Given the description of an element on the screen output the (x, y) to click on. 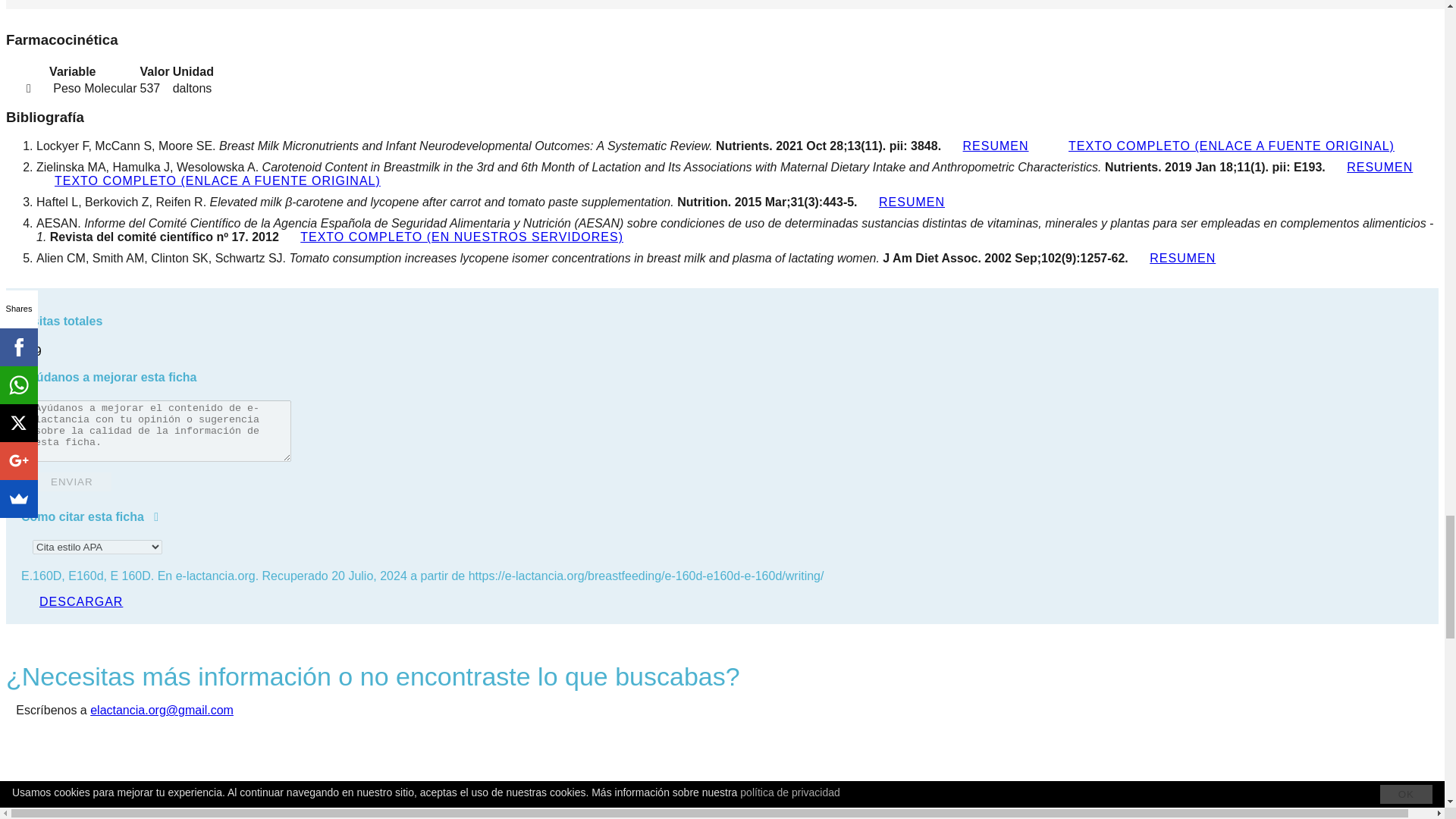
Enviar (72, 481)
RESUMEN (995, 145)
RESUMEN (911, 201)
RESUMEN (1379, 167)
